Given the description of an element on the screen output the (x, y) to click on. 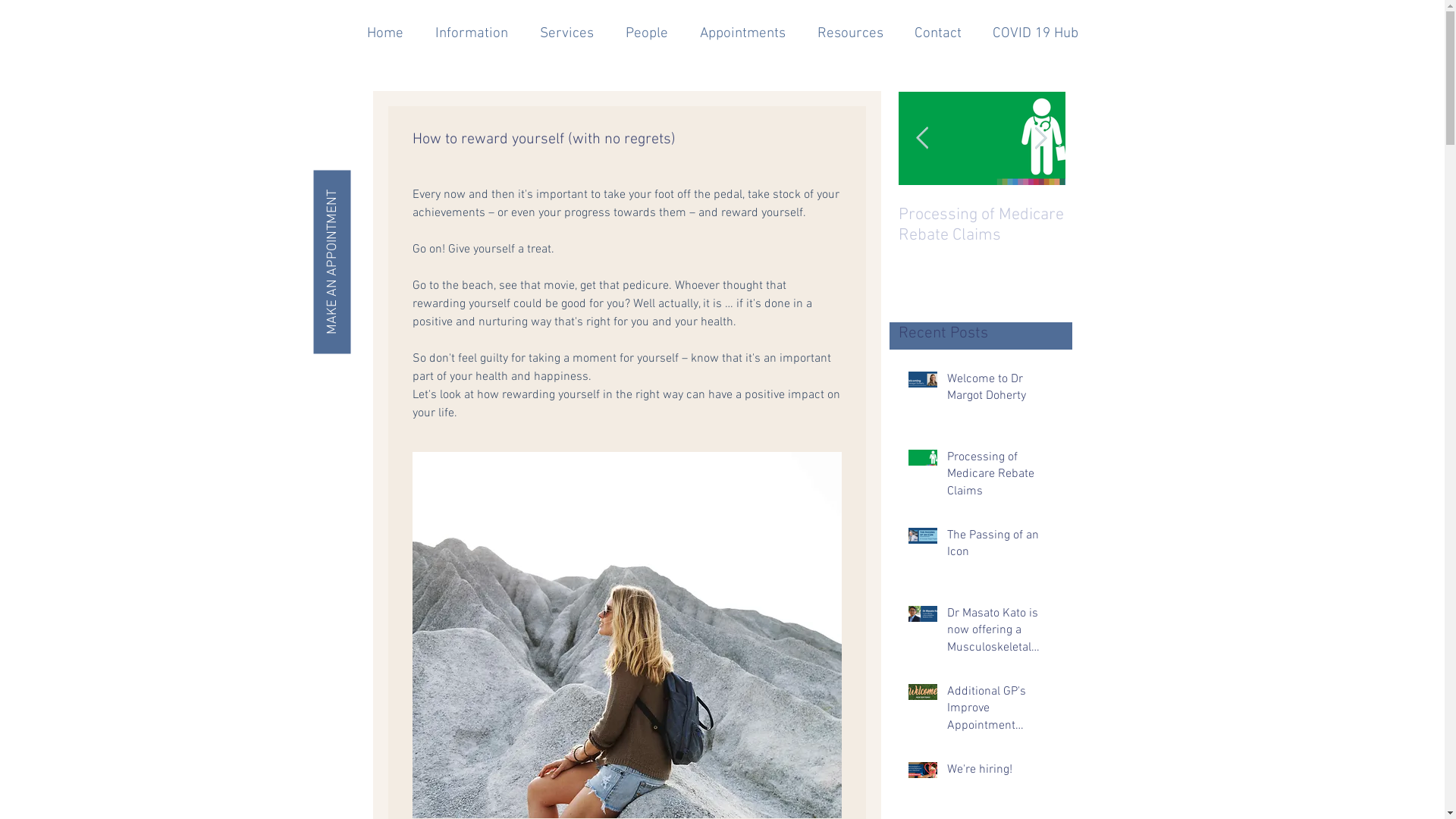
Appointments Element type: text (742, 33)
Welcome to Dr Margot Doherty Element type: text (980, 224)
Home Element type: text (384, 33)
Additional GP's Improve Appointment Availability Element type: text (1000, 711)
HC Website Icon | Location-01.jpg Element type: hover (976, 98)
Welcome to Dr Margot Doherty Element type: text (1000, 390)
MAKE AN APPOINTMENT Element type: text (404, 188)
Services Element type: text (565, 33)
We're hiring! Element type: text (1000, 772)
Information Element type: text (470, 33)
HC Website Icon | Phone-01.jpg Element type: hover (976, 134)
People Element type: text (646, 33)
COVID 19 Hub Element type: text (1034, 33)
The Passing of an Icon Element type: text (1000, 547)
Contact Element type: text (938, 33)
Resources Element type: text (849, 33)
Processing of Medicare Rebate Claims Element type: text (1147, 224)
Processing of Medicare Rebate Claims Element type: text (1000, 476)
